Given the description of an element on the screen output the (x, y) to click on. 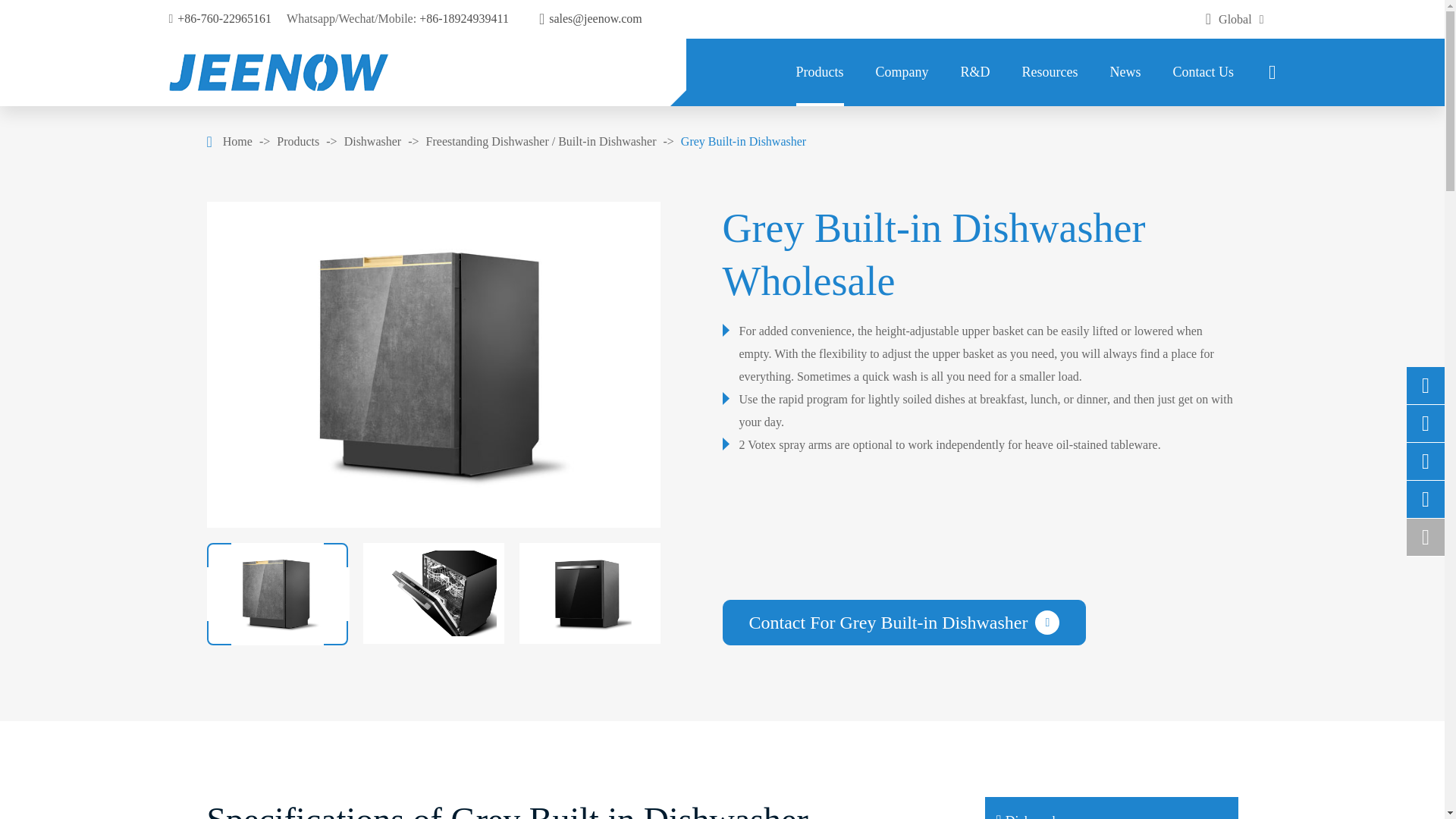
grey built in dishwasher1 (432, 364)
Guangdong Jienuo Electric Appliances Co., Ltd. (278, 72)
Products (820, 72)
Dishwasher (372, 141)
Contact Us (1202, 72)
Products (297, 141)
Resources (1050, 72)
Grey Built-in Dishwasher (743, 141)
Company (901, 72)
